Given the description of an element on the screen output the (x, y) to click on. 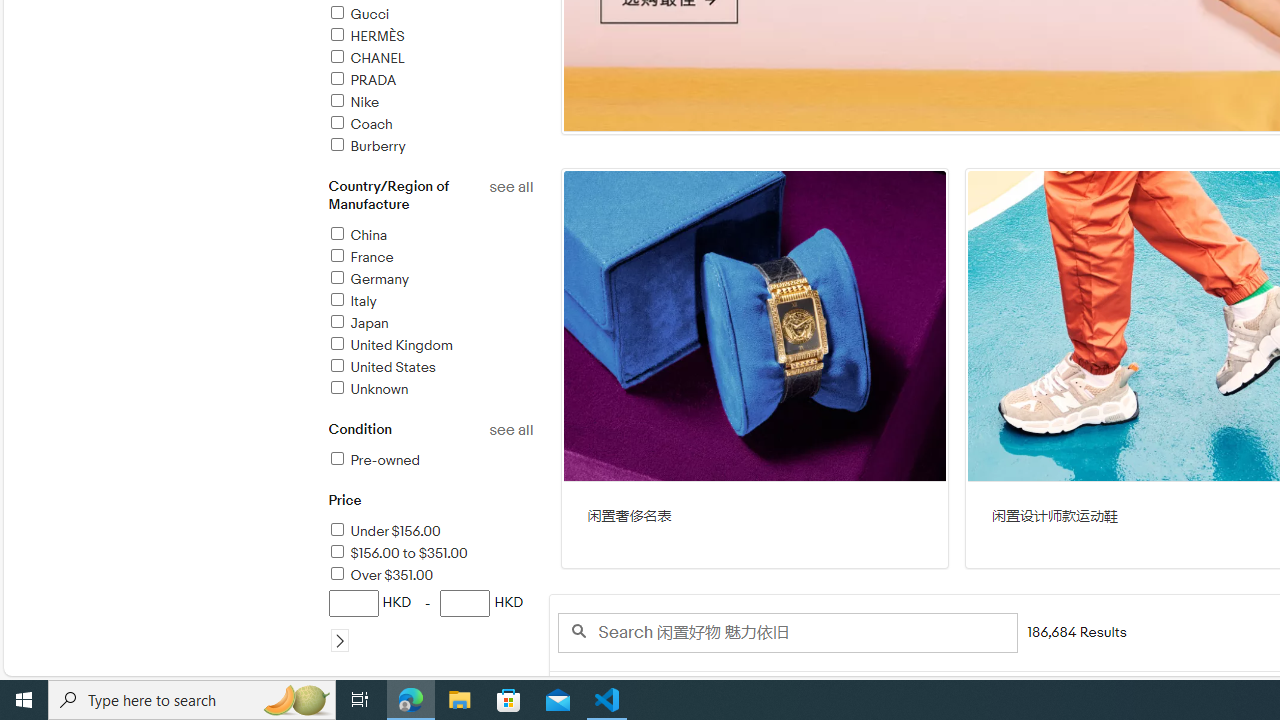
Coach (430, 125)
Over $351.00 (430, 576)
China (356, 235)
Unknown (367, 389)
Italy (430, 302)
See all condition refinements (510, 430)
CHANEL (430, 59)
PriceUnder $156.00$156.00 to $351.00Over $351.00HKD-HKD (430, 583)
Gucci (430, 15)
PRADA (430, 81)
Conditionsee allPre-owned (430, 456)
Italy (351, 301)
See all buying format refinements (510, 684)
Germany (430, 280)
Nike (430, 103)
